Given the description of an element on the screen output the (x, y) to click on. 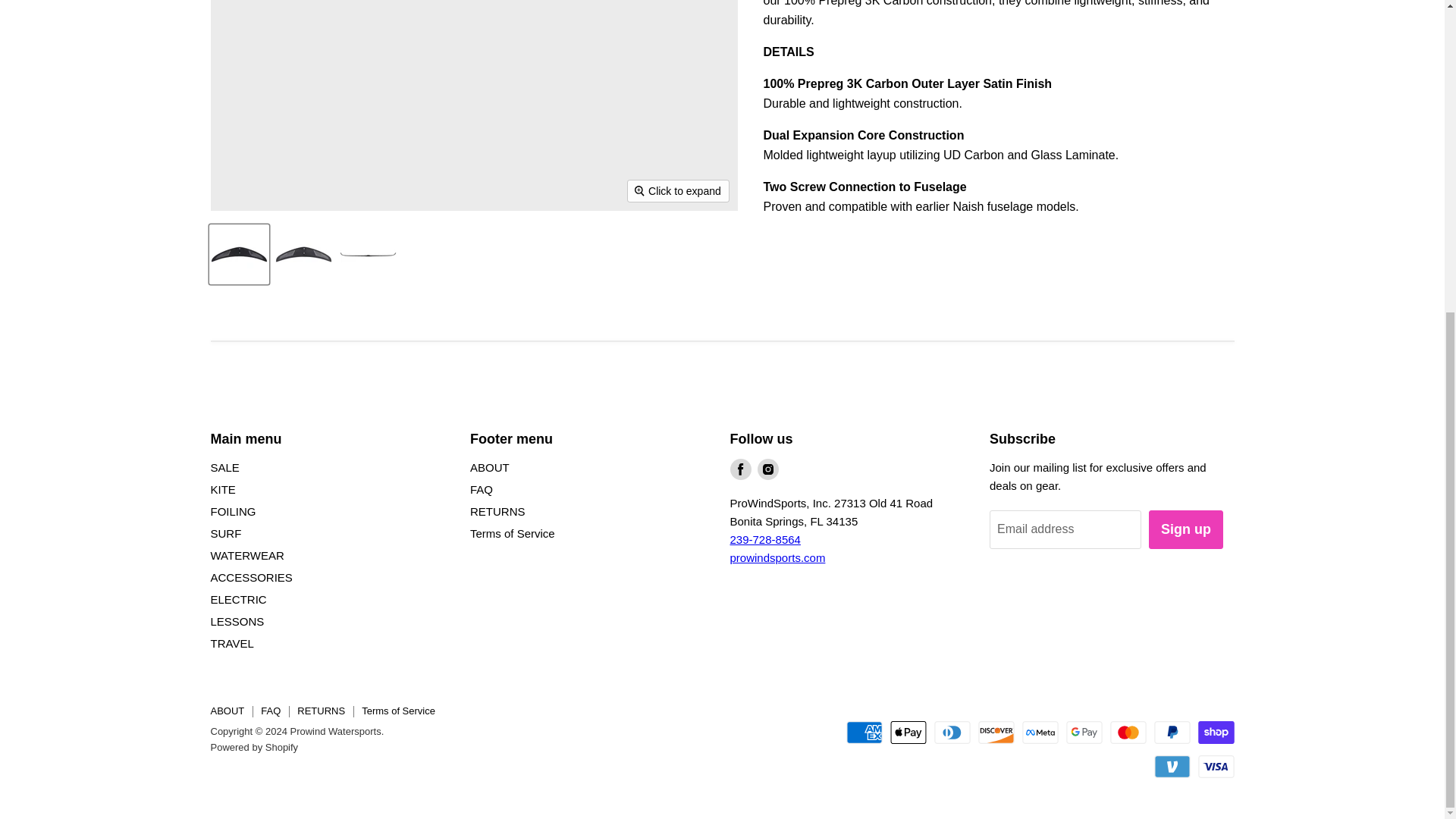
Facebook (740, 468)
Instagram (767, 468)
